Given the description of an element on the screen output the (x, y) to click on. 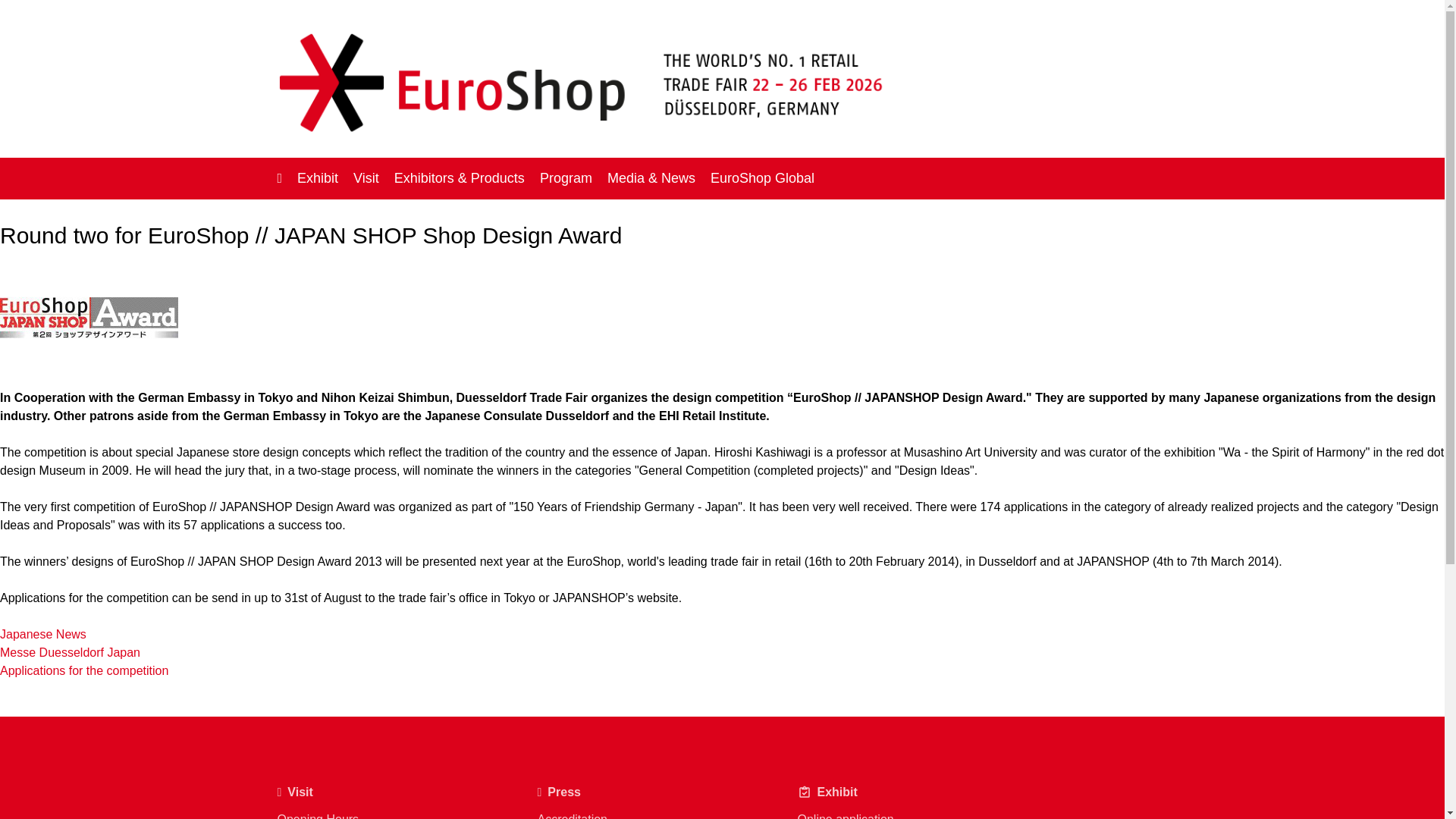
Home (280, 177)
Visit (365, 177)
Exhibit (317, 177)
Exhibit (317, 177)
Home (280, 177)
